Given the description of an element on the screen output the (x, y) to click on. 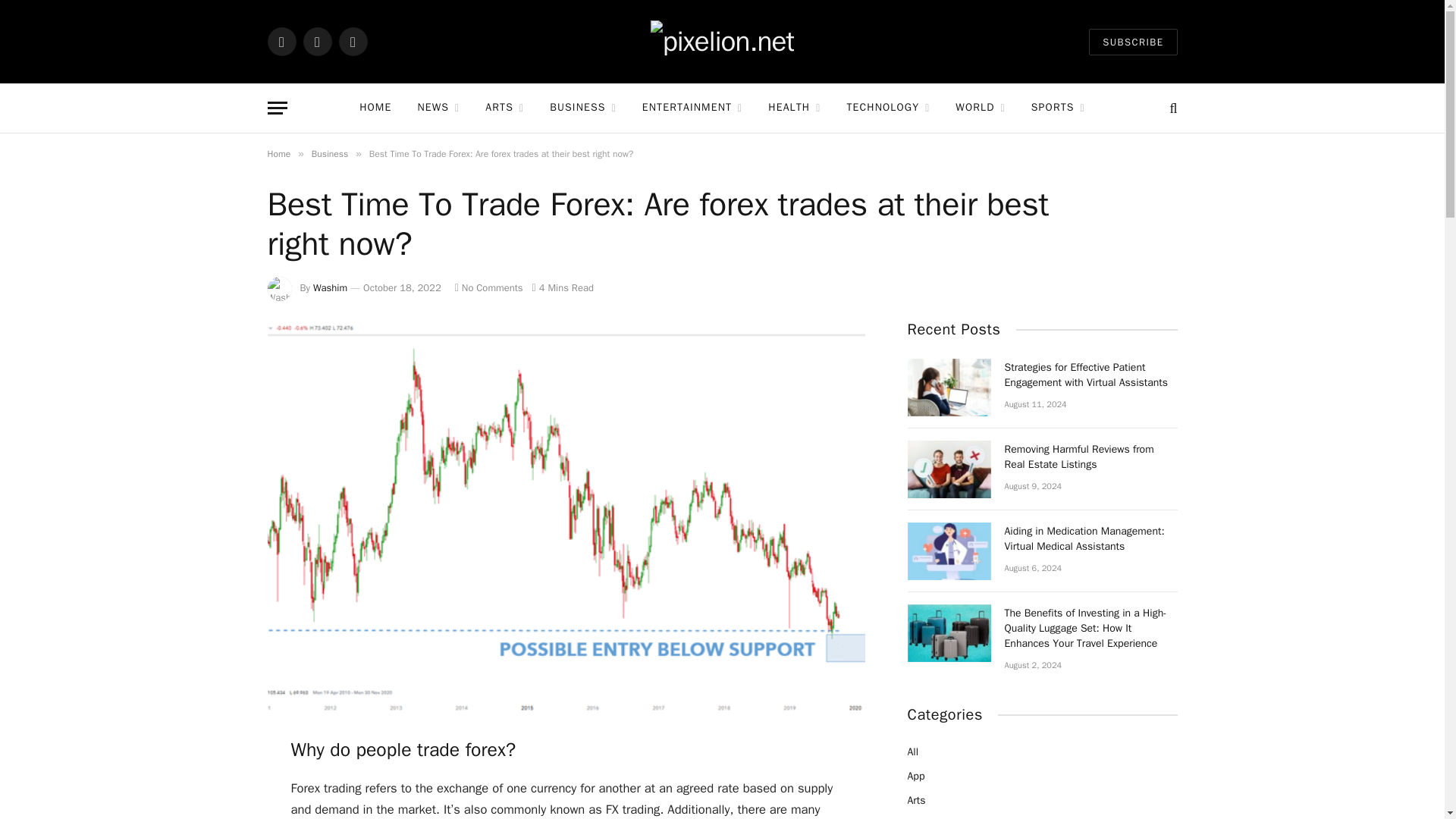
pixelion.net (721, 41)
NEWS (437, 107)
SUBSCRIBE (1132, 41)
Twitter (316, 41)
Instagram (351, 41)
Facebook (280, 41)
ARTS (504, 107)
HOME (375, 107)
